Given the description of an element on the screen output the (x, y) to click on. 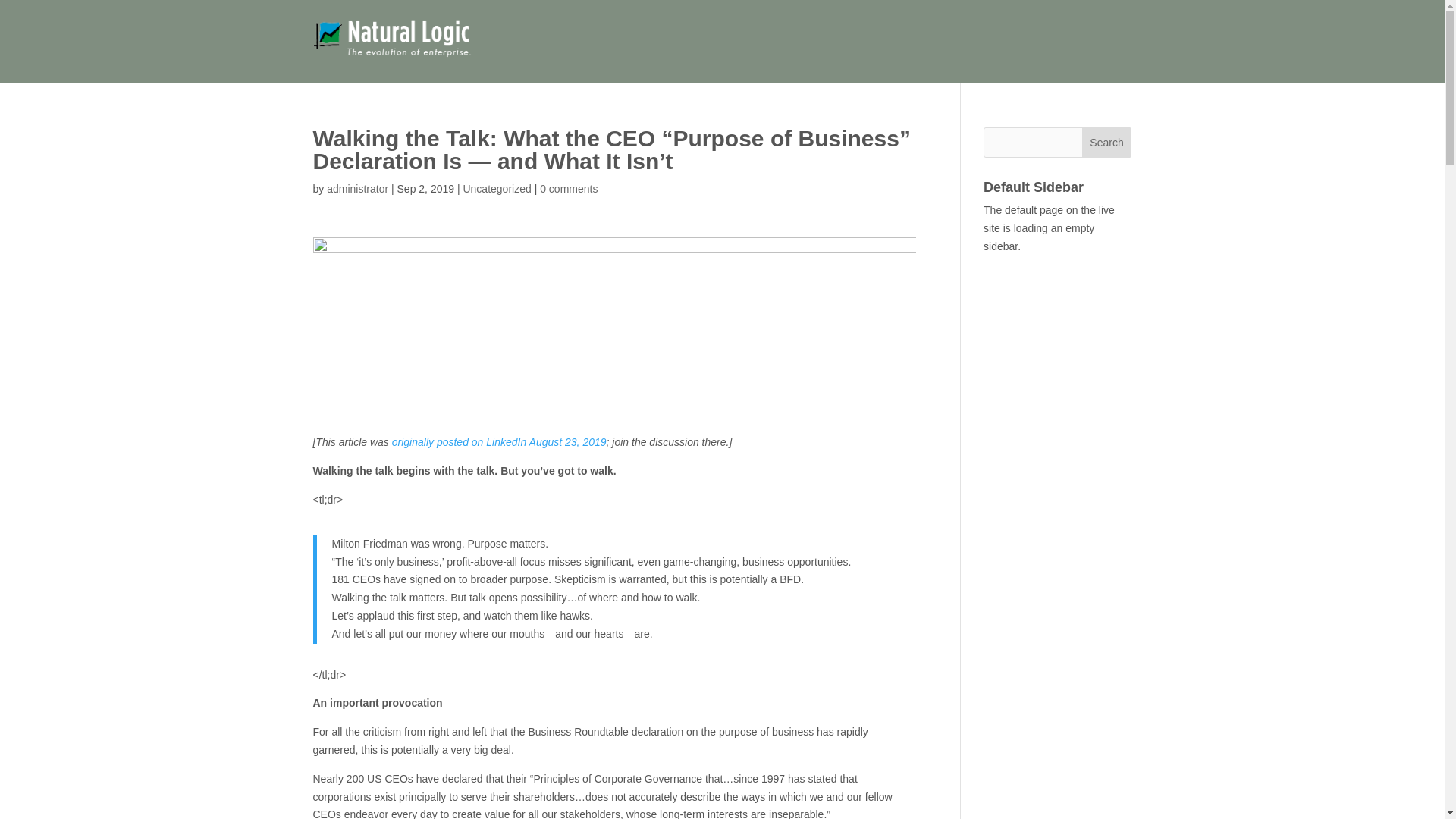
administrator (357, 188)
0 comments (568, 188)
Search (1106, 142)
Posts by administrator (357, 188)
gflogo-evolution-smalla (398, 41)
originally posted on LinkedIn August 23, 2019 (499, 441)
Uncategorized (497, 188)
